Given the description of an element on the screen output the (x, y) to click on. 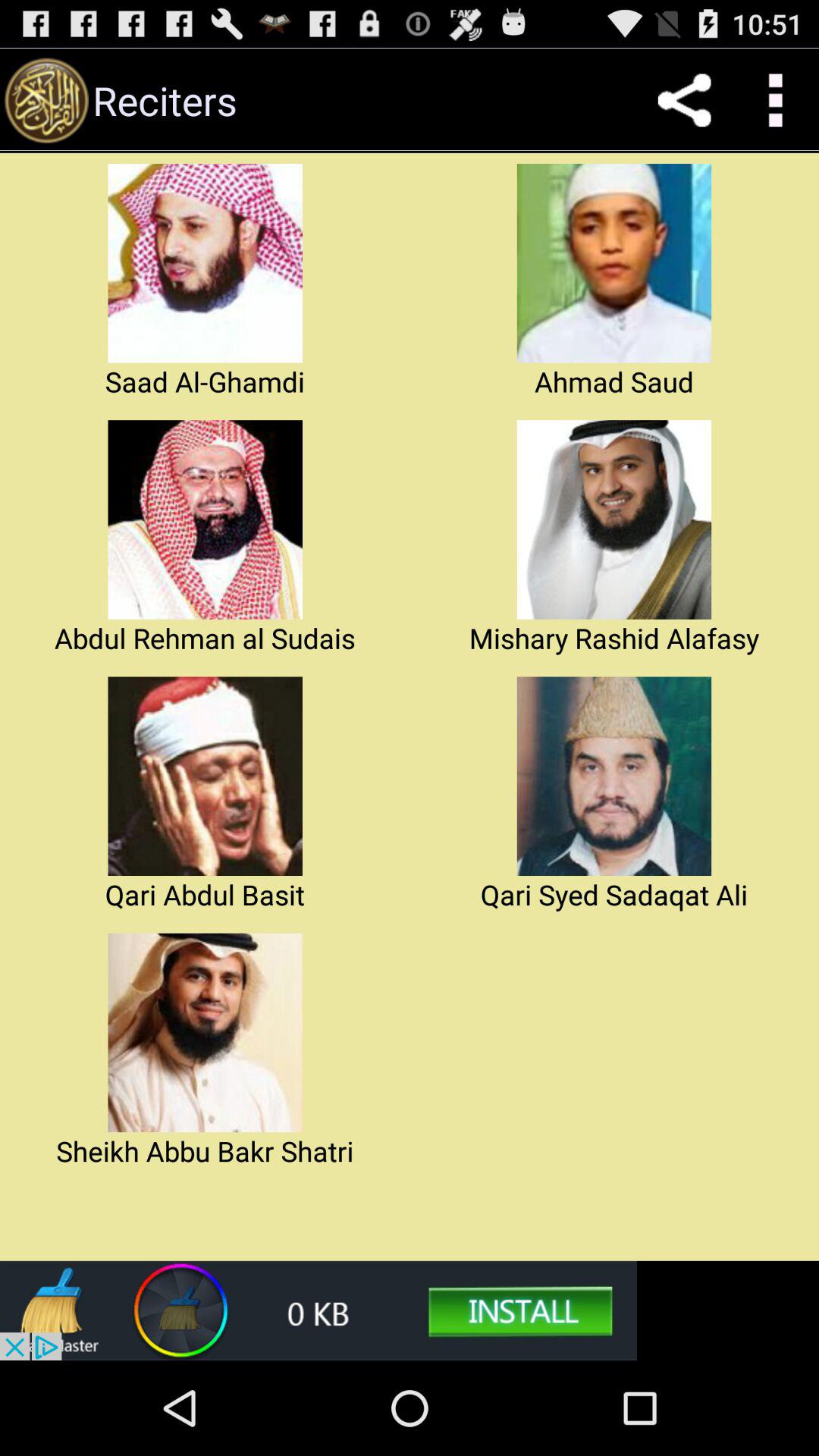
for advertisement (318, 1310)
